Given the description of an element on the screen output the (x, y) to click on. 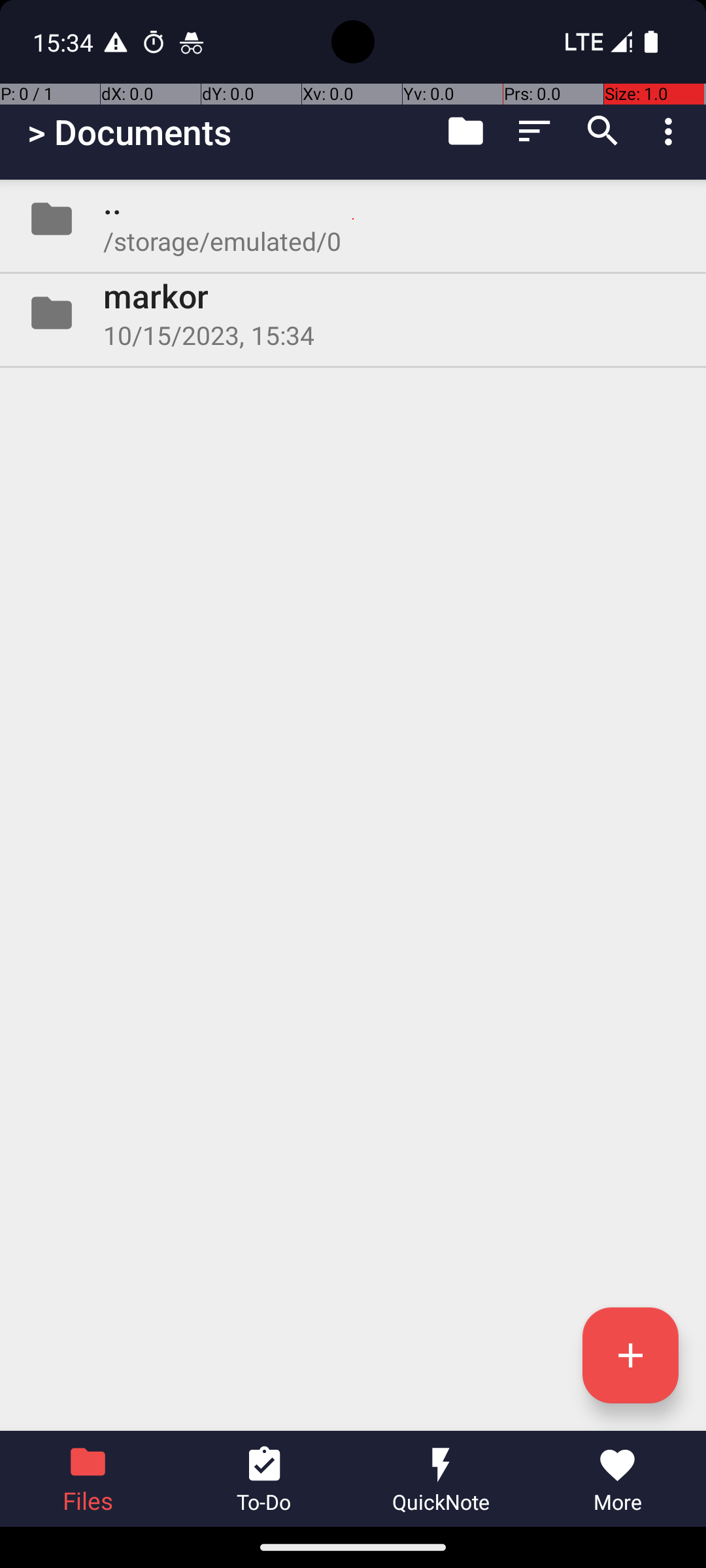
> Documents Element type: android.widget.TextView (129, 131)
Folder markor  Element type: android.widget.LinearLayout (353, 312)
